Given the description of an element on the screen output the (x, y) to click on. 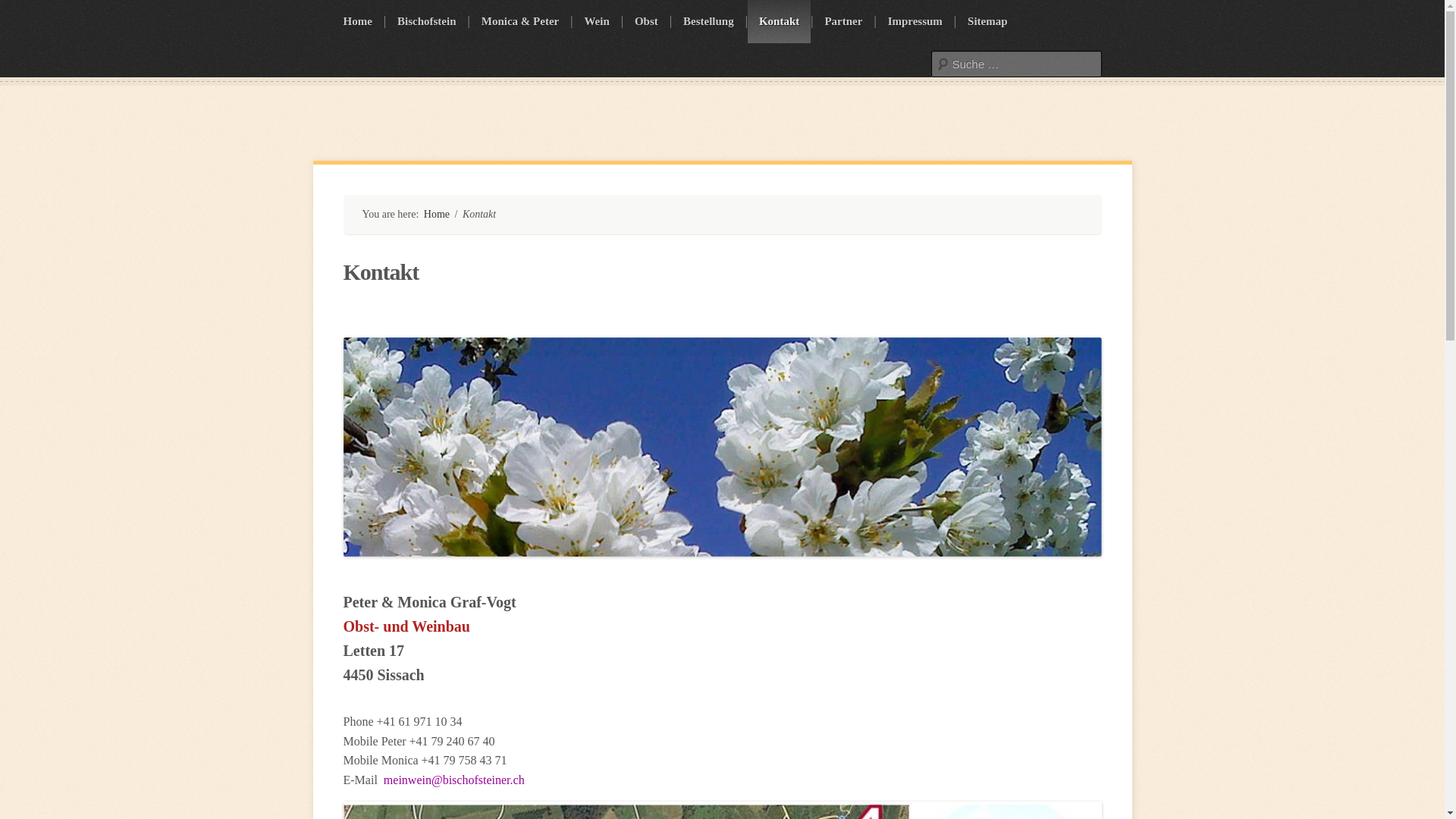
Bischofsteiner Element type: text (348, 123)
Partner Element type: text (842, 21)
Impressum Element type: text (914, 21)
Obst Element type: text (646, 21)
Suche Element type: text (26, 12)
Home Element type: text (357, 21)
Skip to content Element type: text (332, 0)
Bestellung Element type: text (708, 21)
meinwein@bischofsteiner.ch Element type: text (453, 779)
Home Element type: text (436, 213)
Wein Element type: text (596, 21)
Sitemap Element type: text (987, 21)
Monica & Peter Element type: text (520, 21)
Bischofstein Element type: text (426, 21)
Kontakt Element type: text (778, 21)
